Given the description of an element on the screen output the (x, y) to click on. 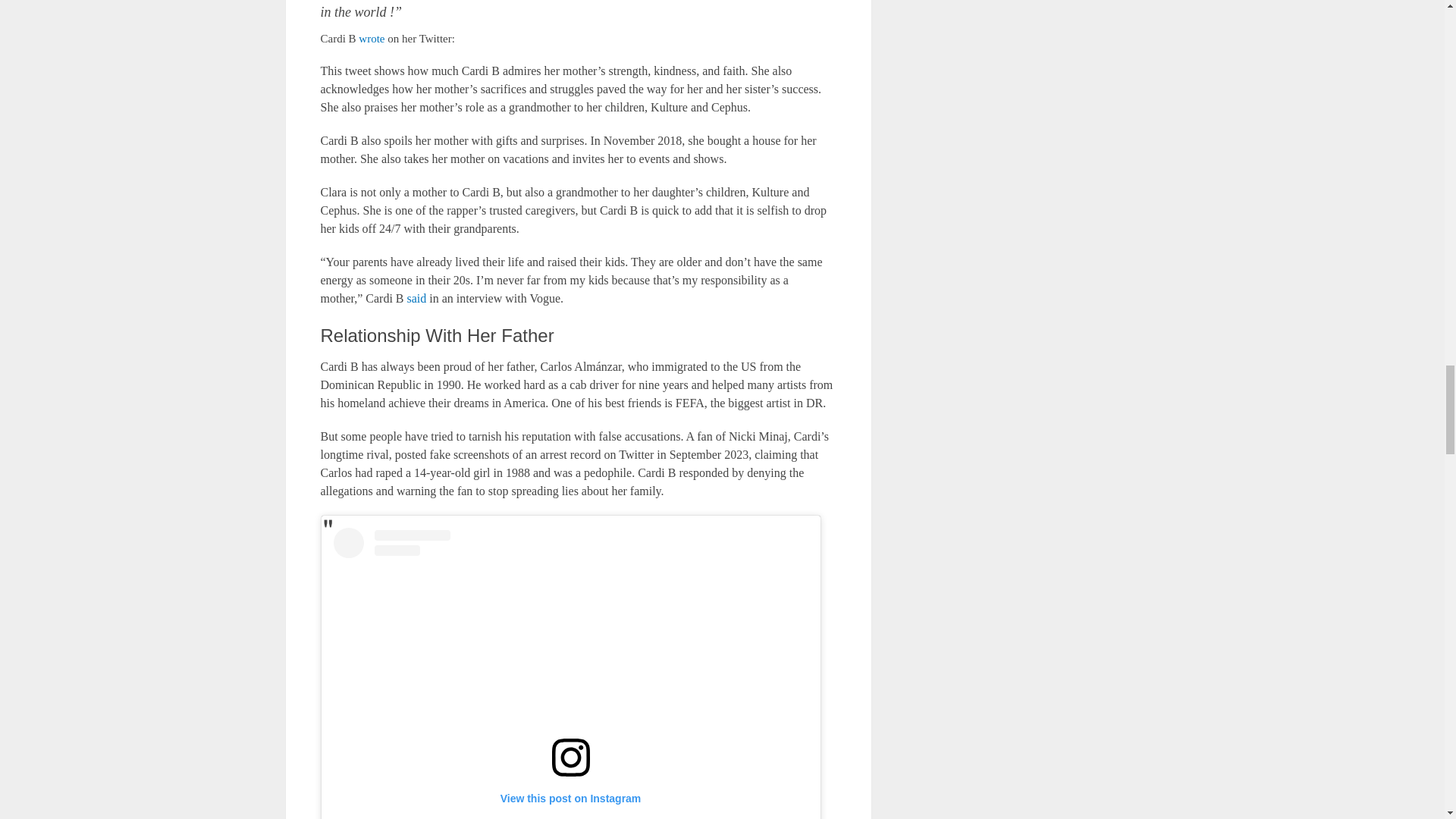
wrote (371, 38)
said (414, 297)
